Given the description of an element on the screen output the (x, y) to click on. 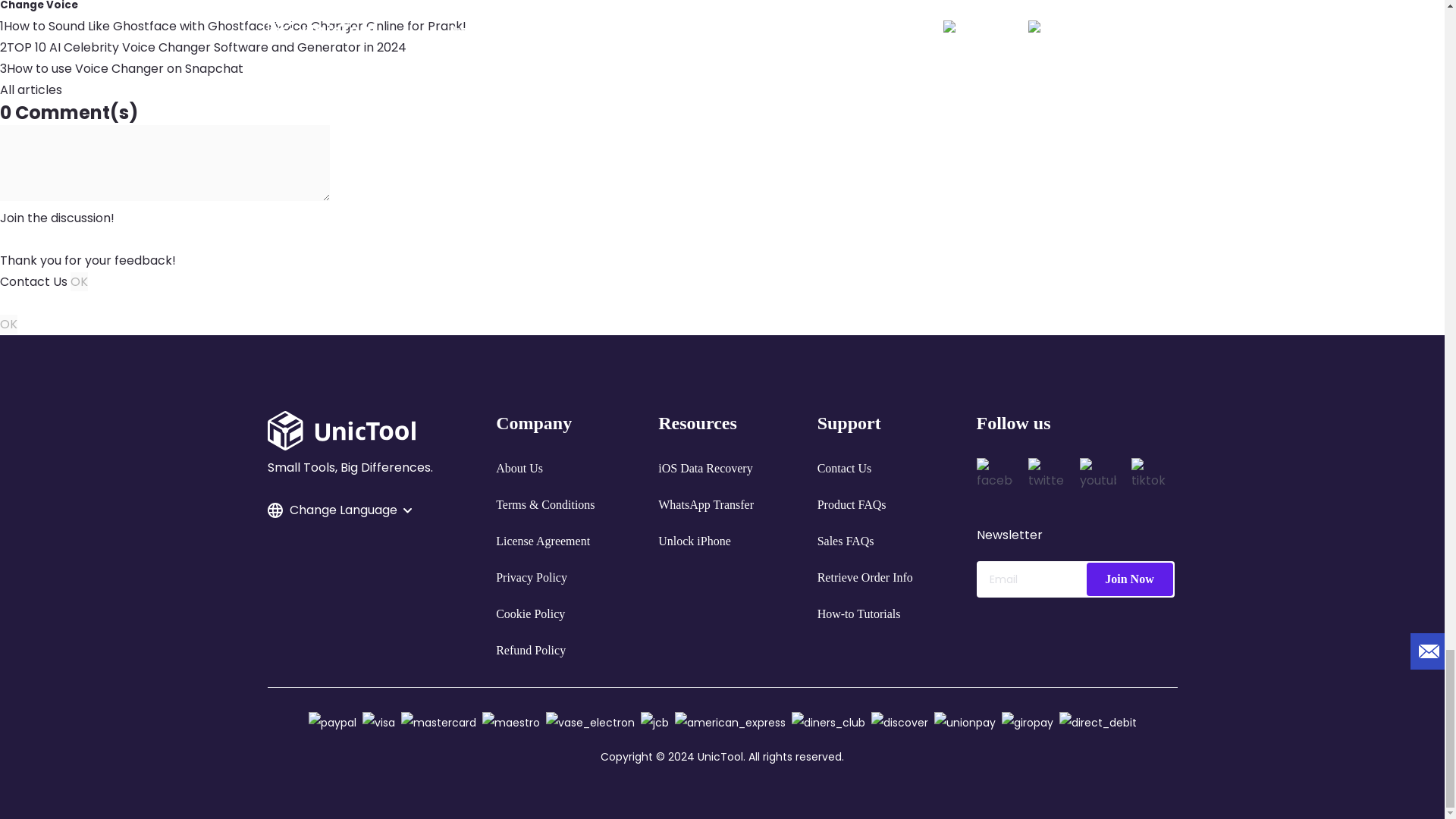
facebook (994, 475)
tiktok (1149, 475)
youtube (1098, 475)
twitter (1045, 475)
